Given the description of an element on the screen output the (x, y) to click on. 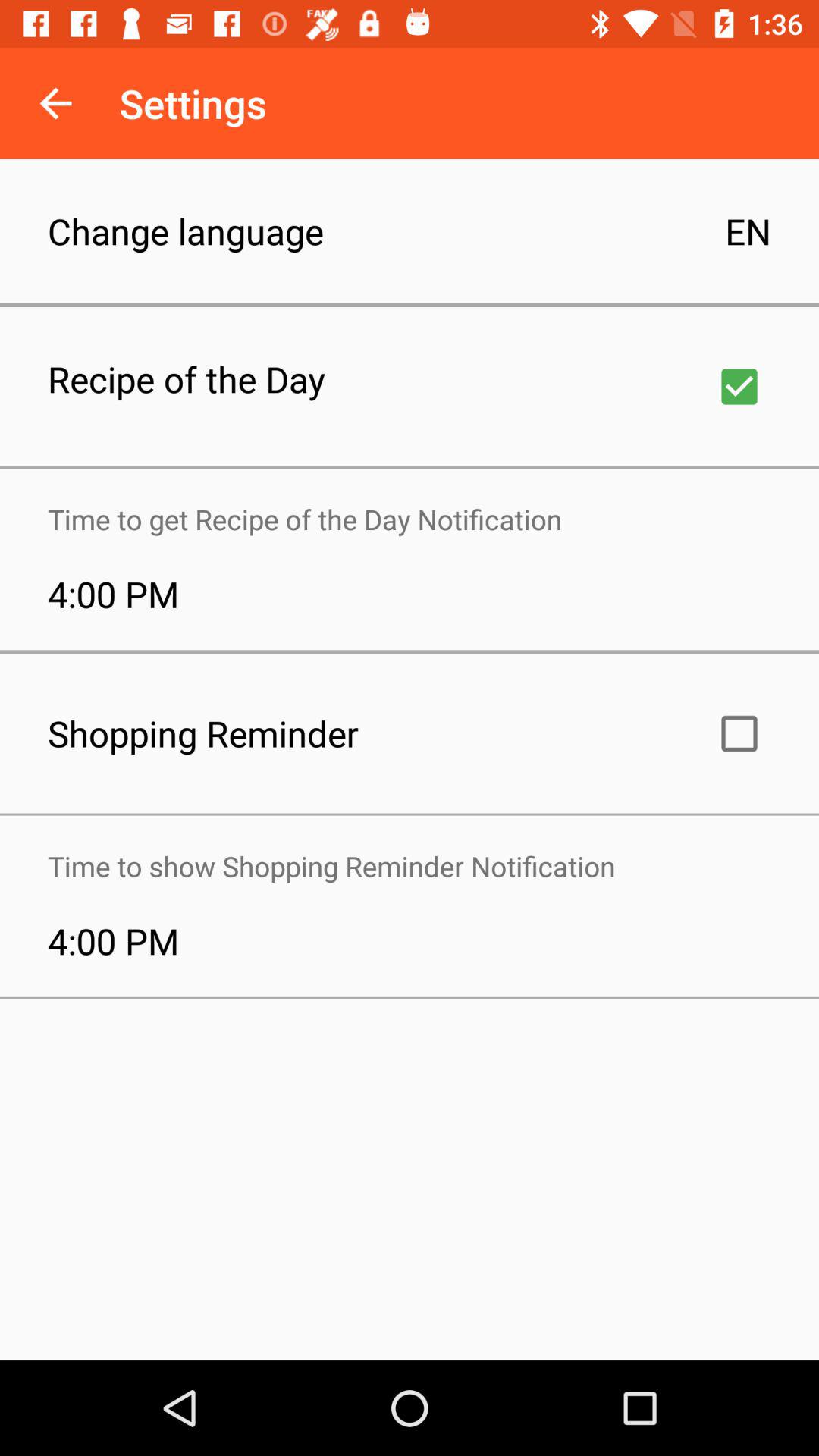
unselect checkmark (739, 386)
